Given the description of an element on the screen output the (x, y) to click on. 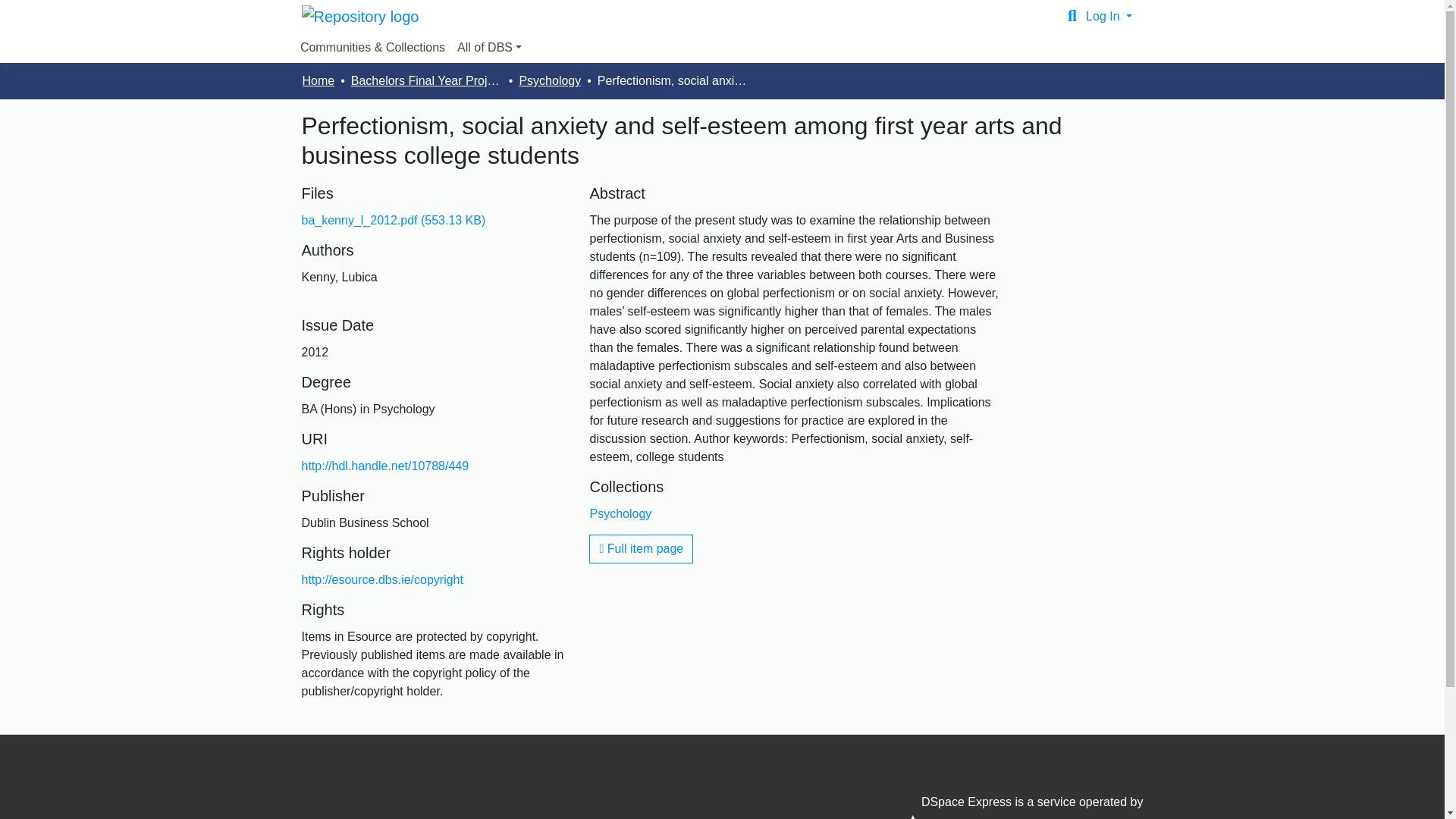
Search (1072, 16)
Psychology (619, 513)
Psychology (549, 81)
DSpace Express is a service operated by (1009, 807)
Log In (1108, 15)
Home (317, 81)
Full item page (641, 548)
All of DBS (489, 47)
Bachelors Final Year Projects (426, 81)
